Given the description of an element on the screen output the (x, y) to click on. 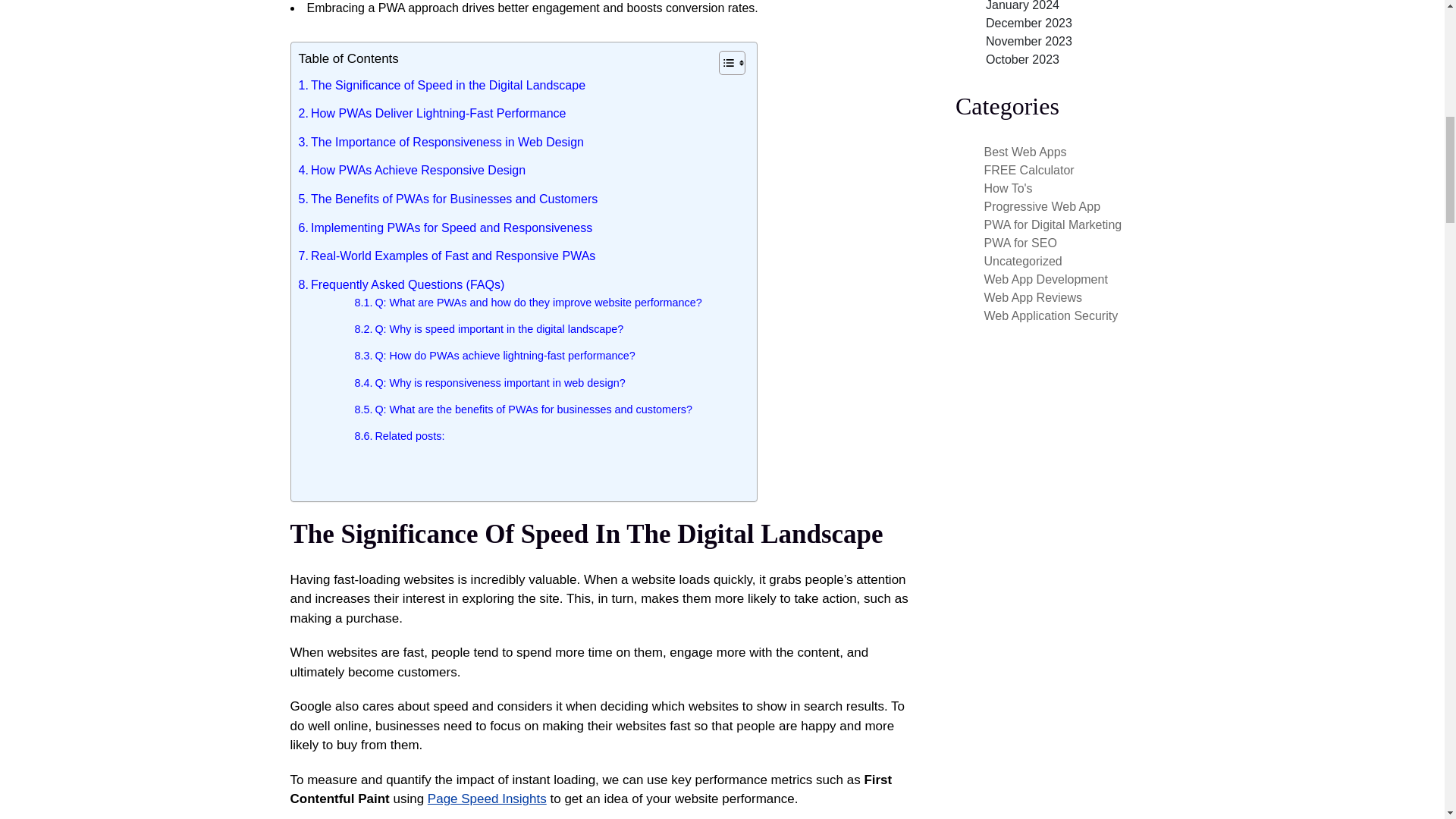
Q: Why is responsiveness important in web design? (490, 383)
The Importance of Responsiveness in Web Design (440, 142)
How PWAs Deliver Lightning-Fast Performance (432, 113)
Q: Why is speed important in the digital landscape? (489, 329)
Real-World Examples of Fast and Responsive PWAs (446, 256)
Implementing PWAs for Speed and Responsiveness (445, 228)
The Benefits of PWAs for Businesses and Customers (448, 199)
The Significance of Speed in the Digital Landscape (442, 85)
How PWAs Achieve Responsive Design (411, 170)
